Given the description of an element on the screen output the (x, y) to click on. 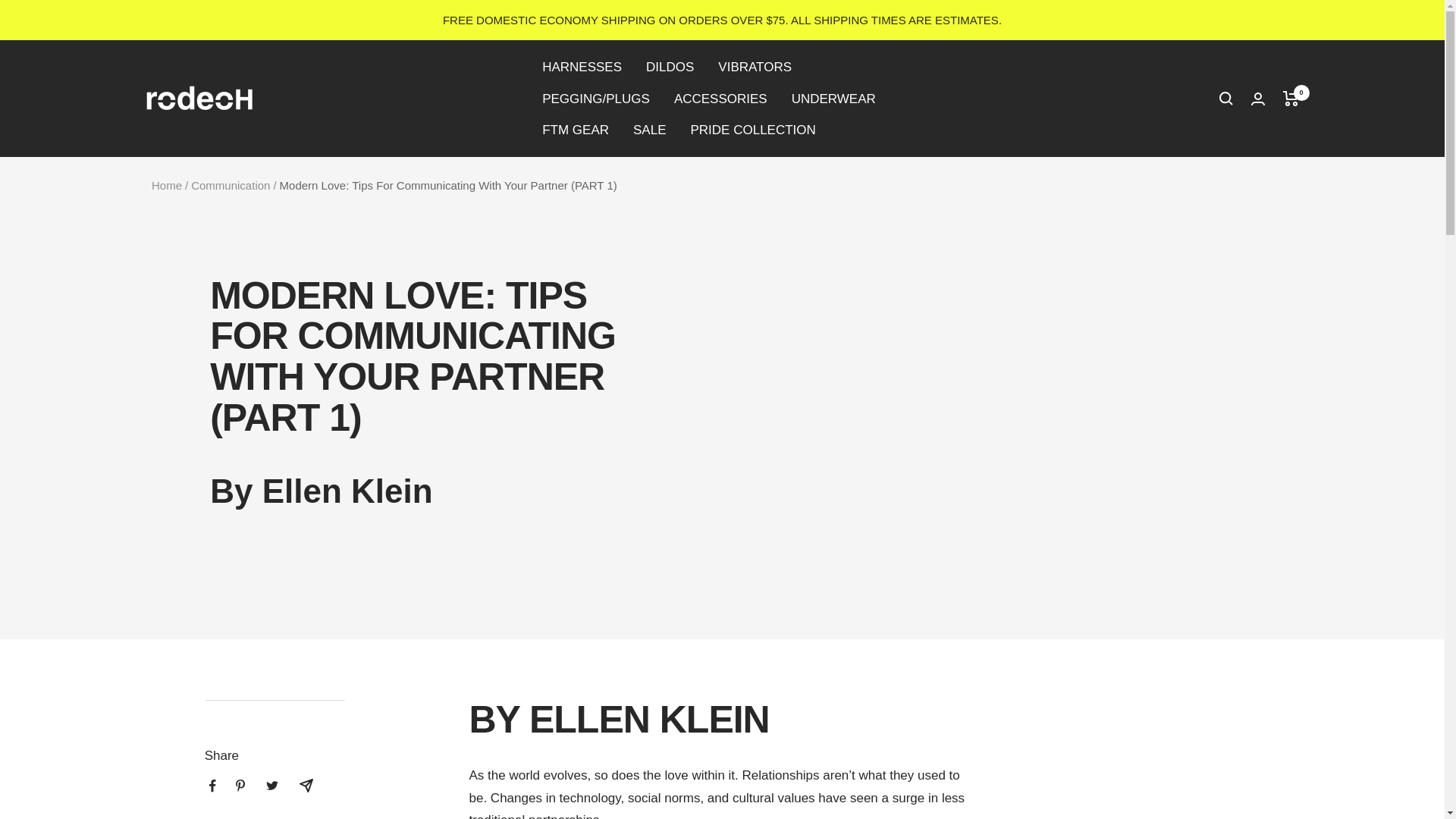
Communication (229, 185)
FTM GEAR (574, 129)
SALE (649, 129)
UNDERWEAR (834, 98)
Home (166, 185)
HARNESSES (581, 66)
VIBRATORS (754, 66)
RodeoH (198, 98)
PRIDE COLLECTION (752, 129)
DILDOS (670, 66)
ACCESSORIES (720, 98)
0 (1290, 98)
